Given the description of an element on the screen output the (x, y) to click on. 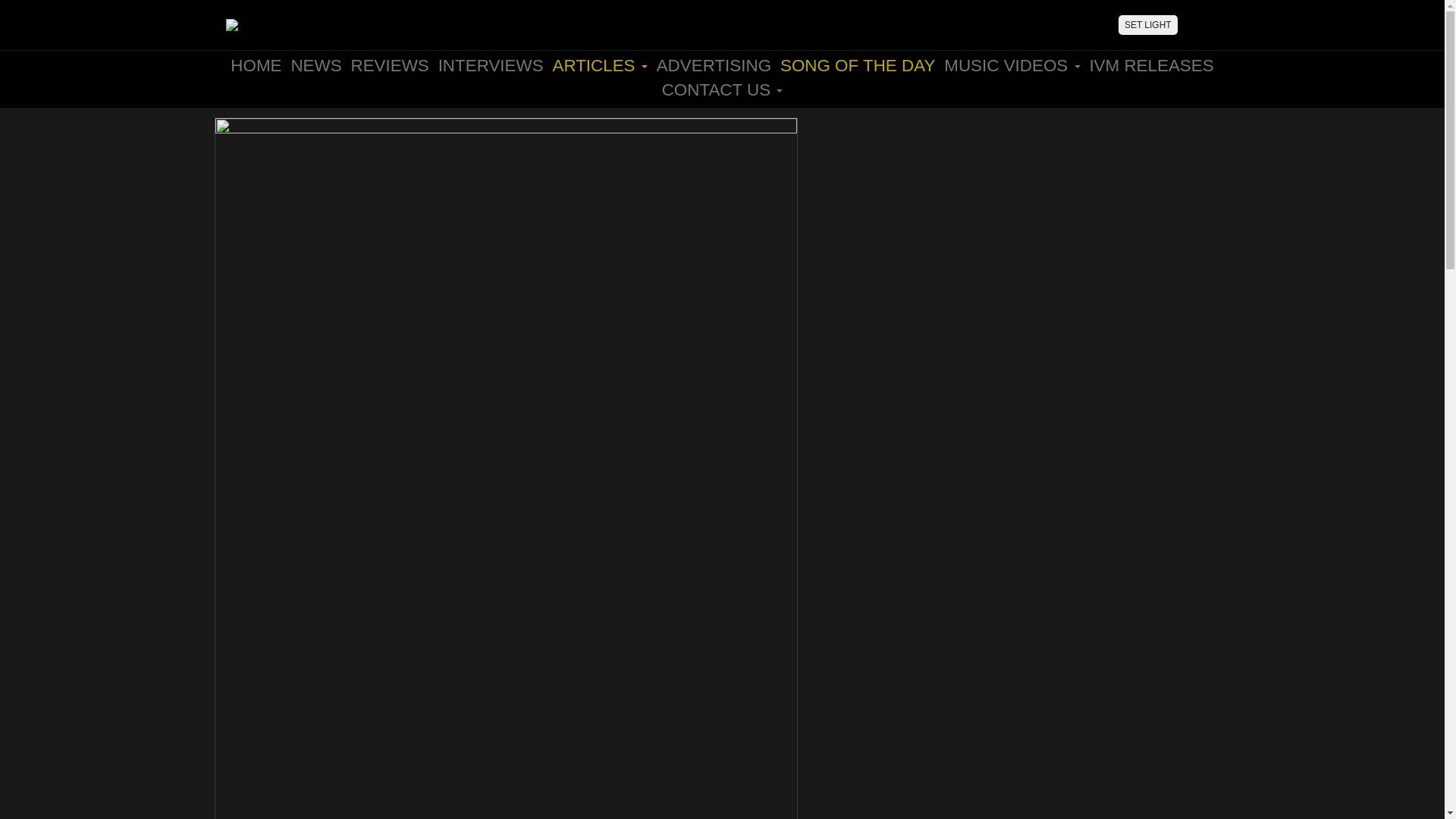
ADVERTISING (713, 65)
NEWS (314, 65)
CONTACT US (722, 89)
REVIEWS (388, 65)
MUSIC VIDEOS (1011, 65)
HOME (255, 65)
IVM RELEASES (1150, 65)
SONG OF THE DAY (857, 65)
INTERVIEWS (491, 65)
SET LIGHT (1147, 25)
